Given the description of an element on the screen output the (x, y) to click on. 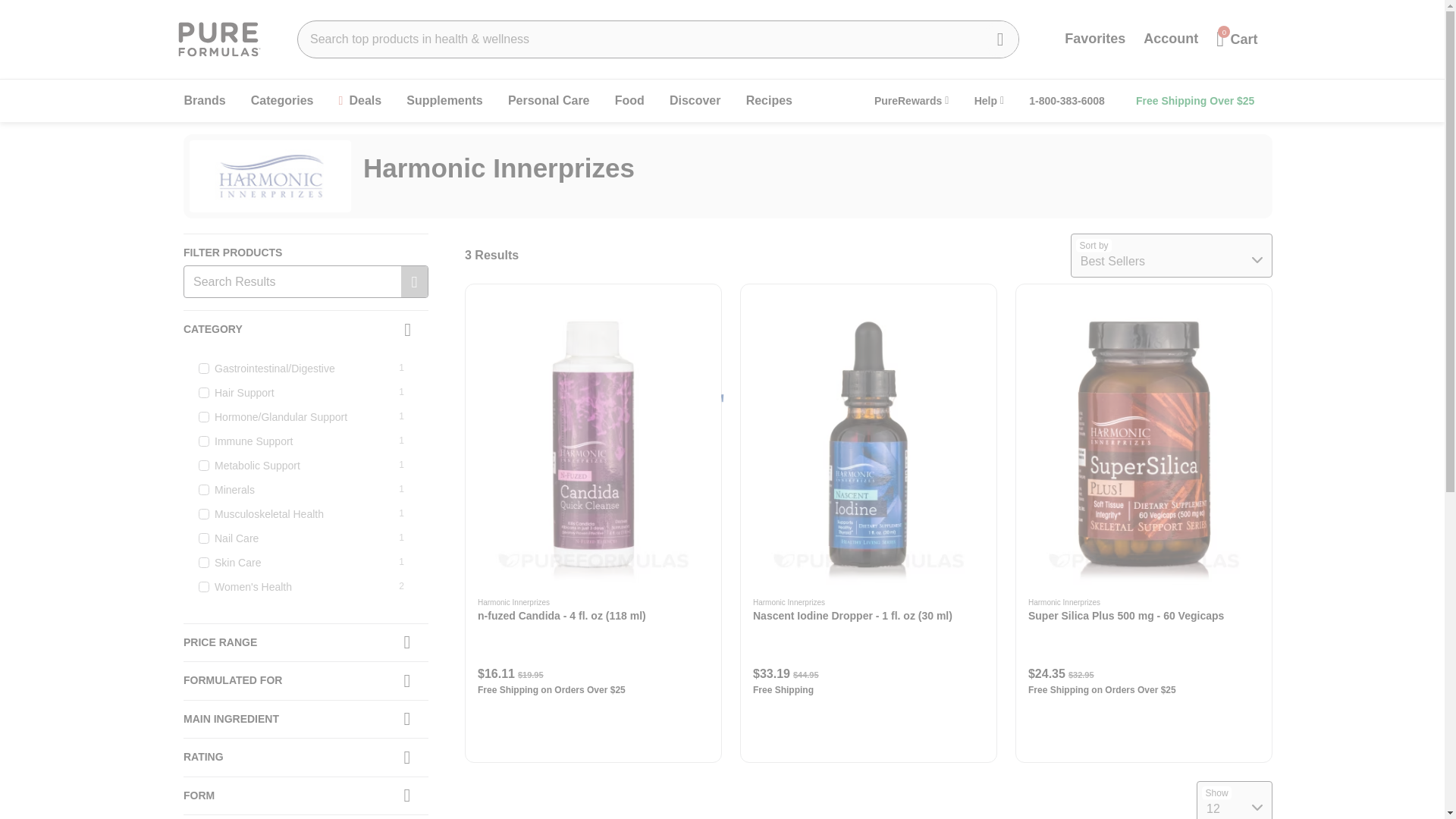
Account (1170, 38)
Deals (360, 100)
Categories (282, 100)
Food (629, 100)
1-800-383-6008 (1066, 100)
Help (989, 100)
Supplements (443, 100)
Personal Care (548, 100)
Discover (694, 100)
Brands (204, 100)
